Given the description of an element on the screen output the (x, y) to click on. 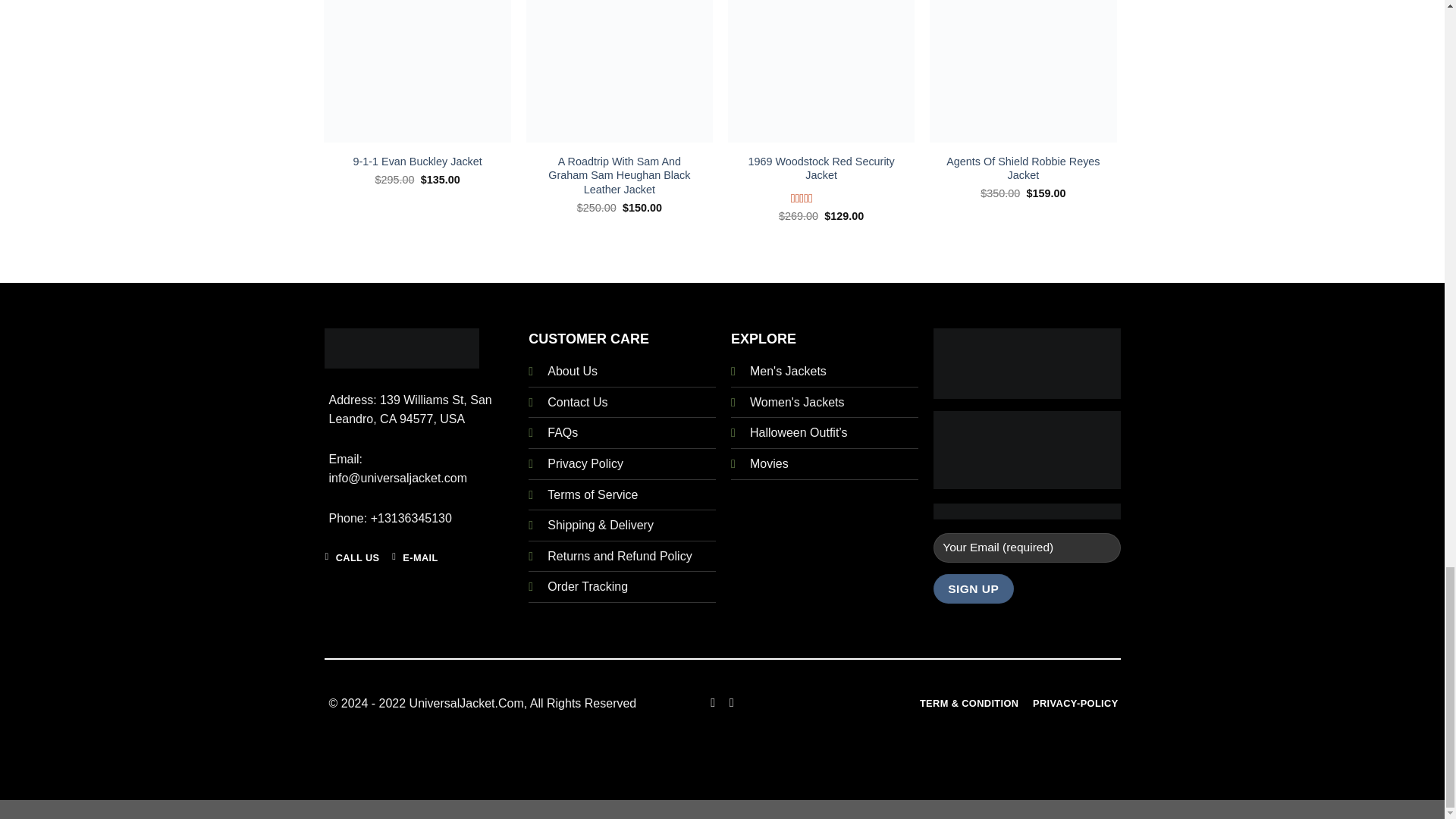
Submit (388, 294)
9-1-1 Evan Buckley Jacket (416, 161)
Sign Up (973, 588)
